Given the description of an element on the screen output the (x, y) to click on. 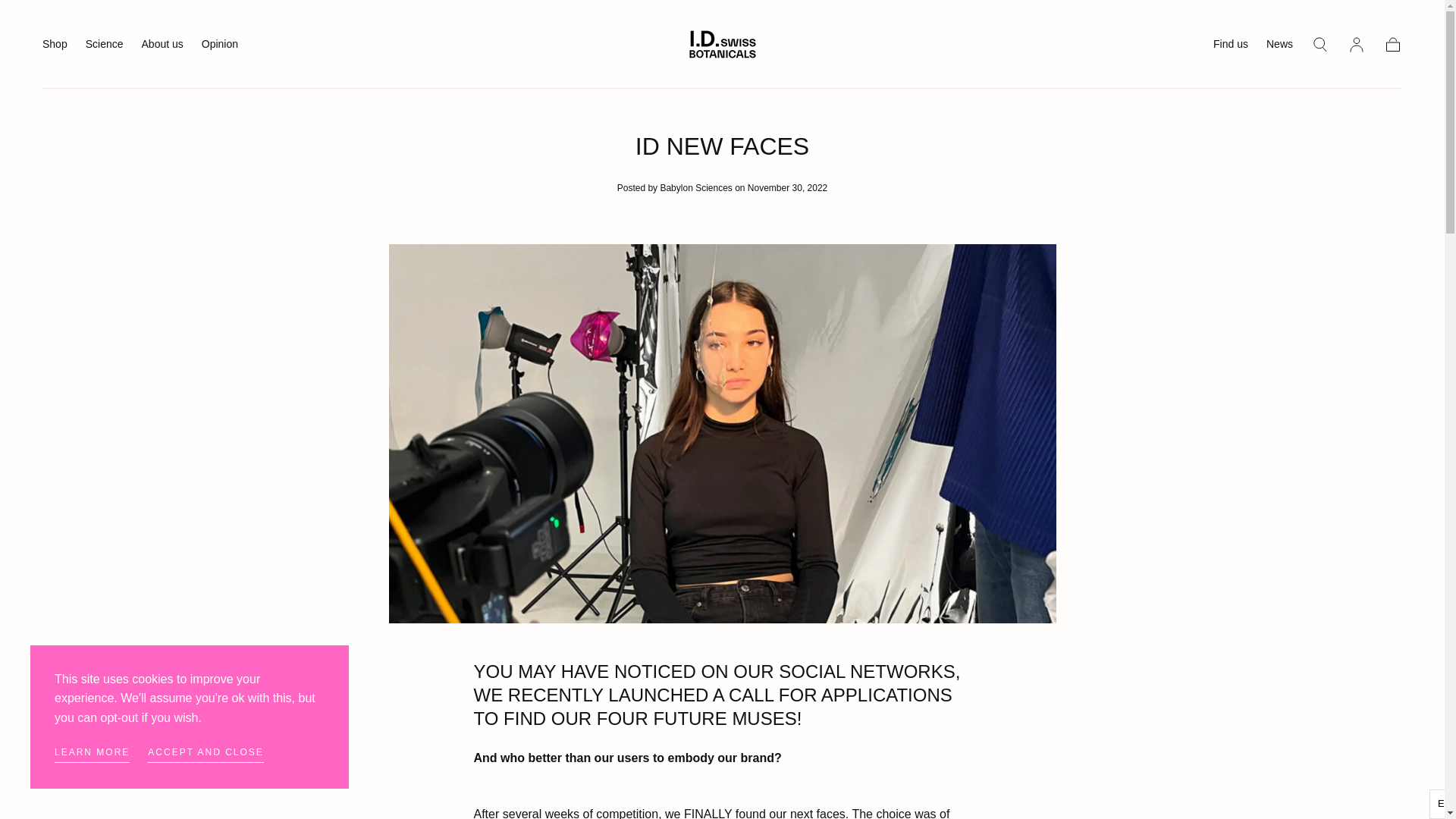
Shop (54, 46)
LEARN MORE (92, 754)
Find us (1229, 46)
About us (162, 46)
News (1279, 46)
Skip to content (67, 18)
Opinion (220, 46)
Science (104, 46)
About us (162, 46)
Cart (1393, 44)
Cart (1393, 44)
ACCEPT AND CLOSE (205, 754)
Opinion (220, 46)
Science (104, 46)
Sign in (1356, 44)
